Given the description of an element on the screen output the (x, y) to click on. 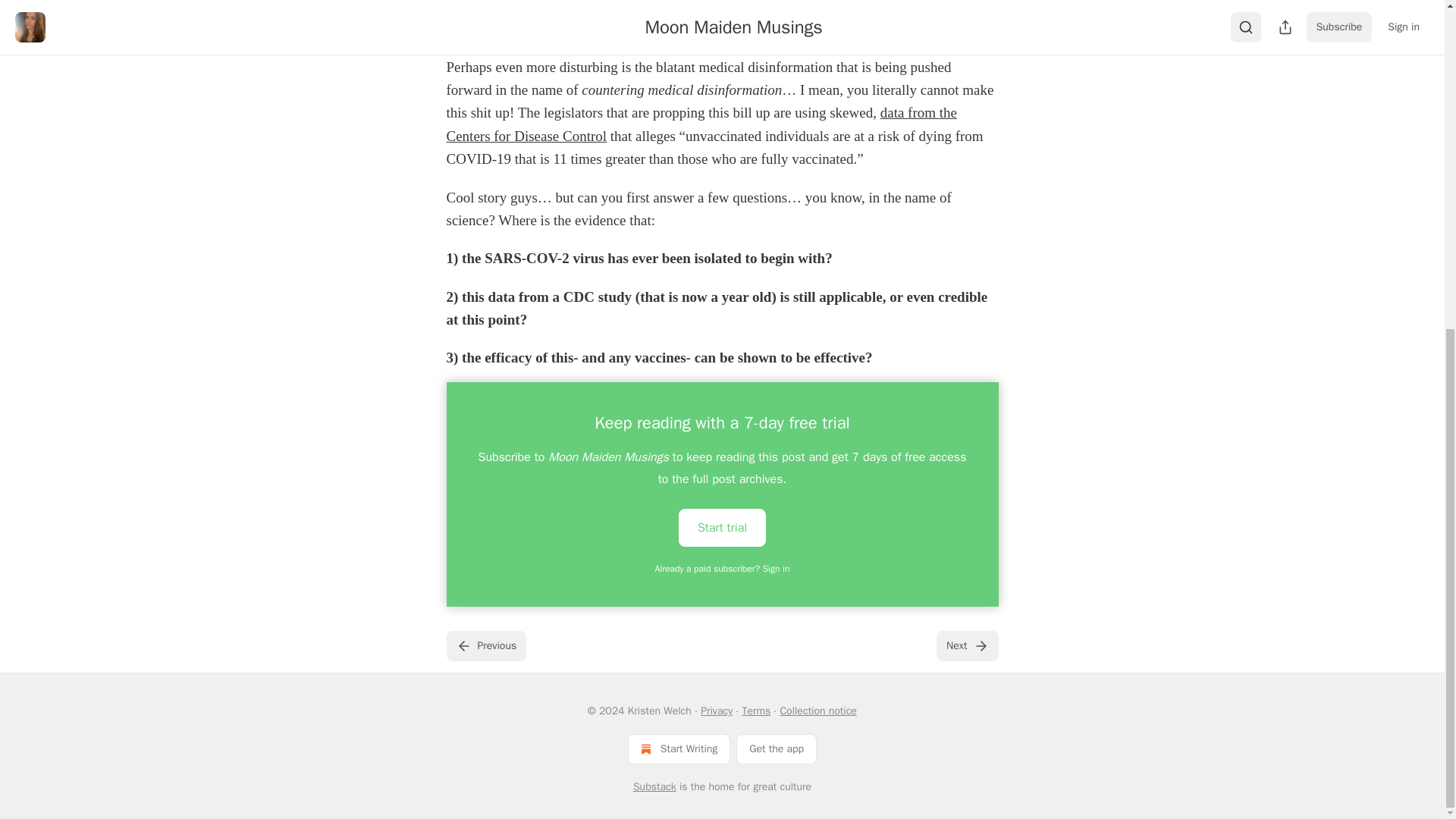
Previous (485, 645)
Substack (655, 786)
Collection notice (817, 710)
Already a paid subscriber? Sign in (722, 568)
Next (966, 645)
Start trial (721, 527)
Start Writing (678, 748)
Get the app (776, 748)
Start trial (721, 526)
Privacy (716, 710)
data from the Centers for Disease Control (700, 123)
Terms (755, 710)
